Given the description of an element on the screen output the (x, y) to click on. 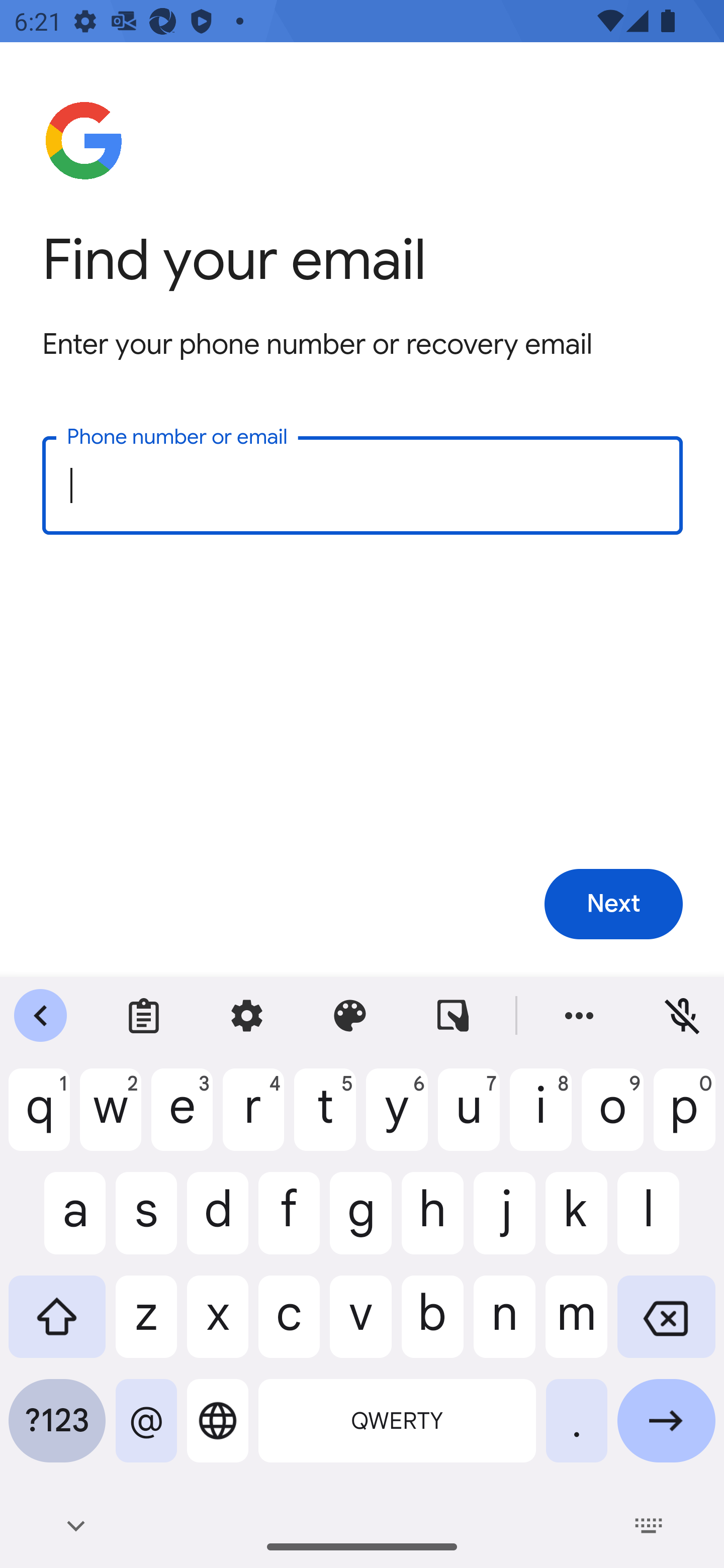
Next (613, 904)
